Given the description of an element on the screen output the (x, y) to click on. 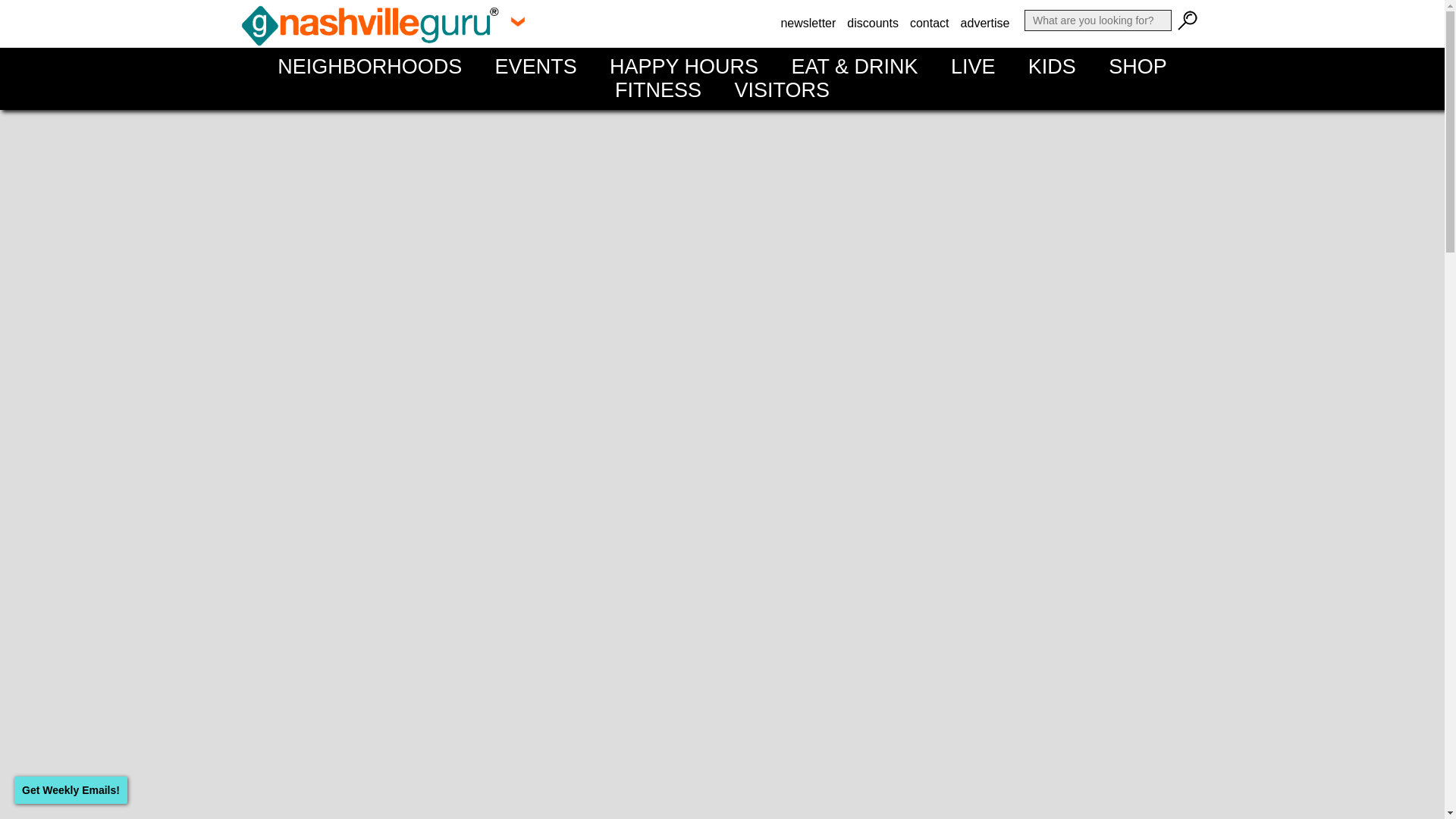
SHOP (1137, 66)
EVENTS (535, 66)
HAPPY HOURS (684, 66)
advertise (984, 22)
contact (929, 22)
VISITORS (781, 89)
FITNESS (657, 89)
discounts (872, 22)
newsletter (808, 22)
LIVE (973, 66)
KIDS (1051, 66)
NEIGHBORHOODS (369, 66)
